Given the description of an element on the screen output the (x, y) to click on. 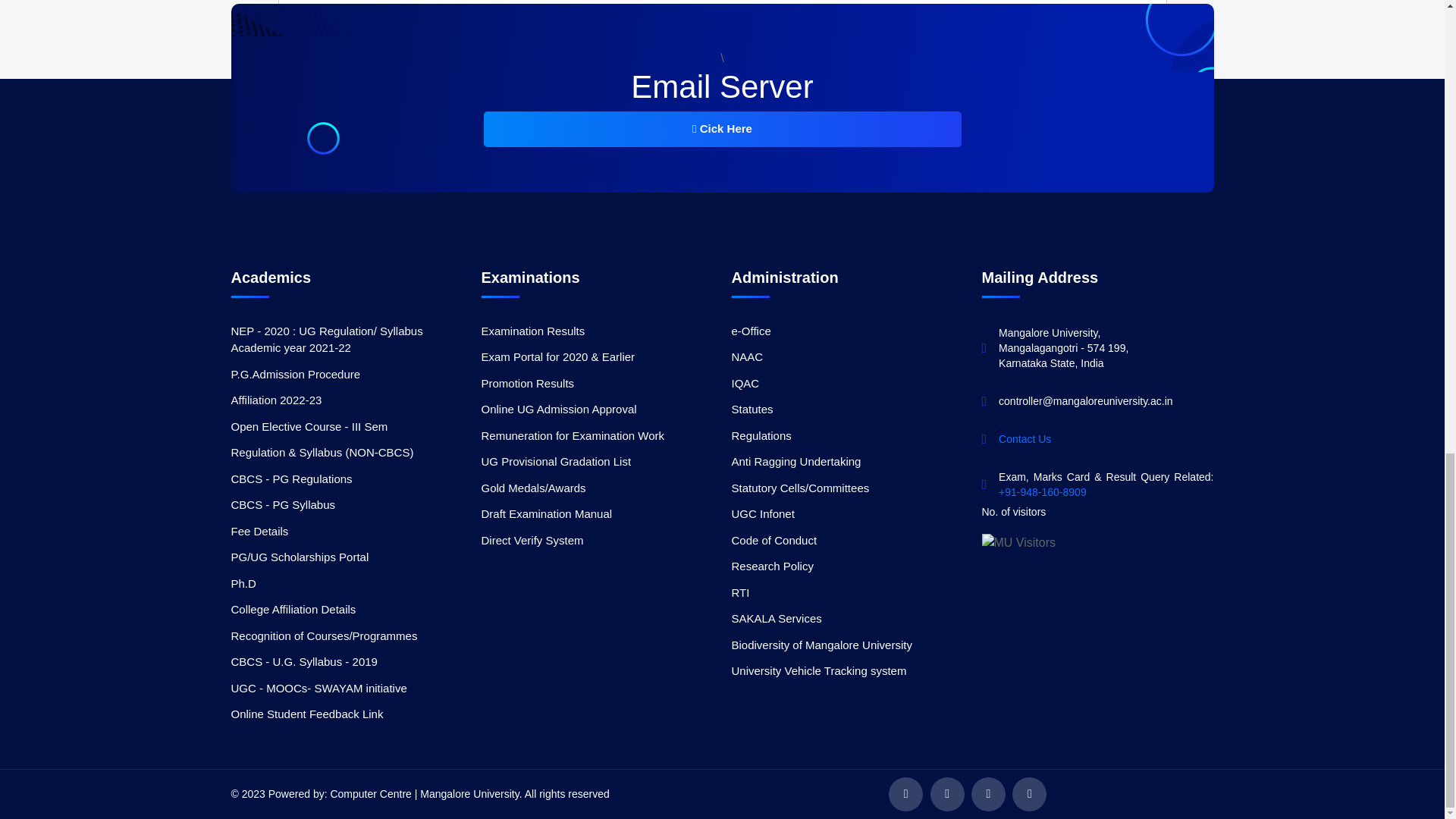
MU Visitors (1018, 542)
